Given the description of an element on the screen output the (x, y) to click on. 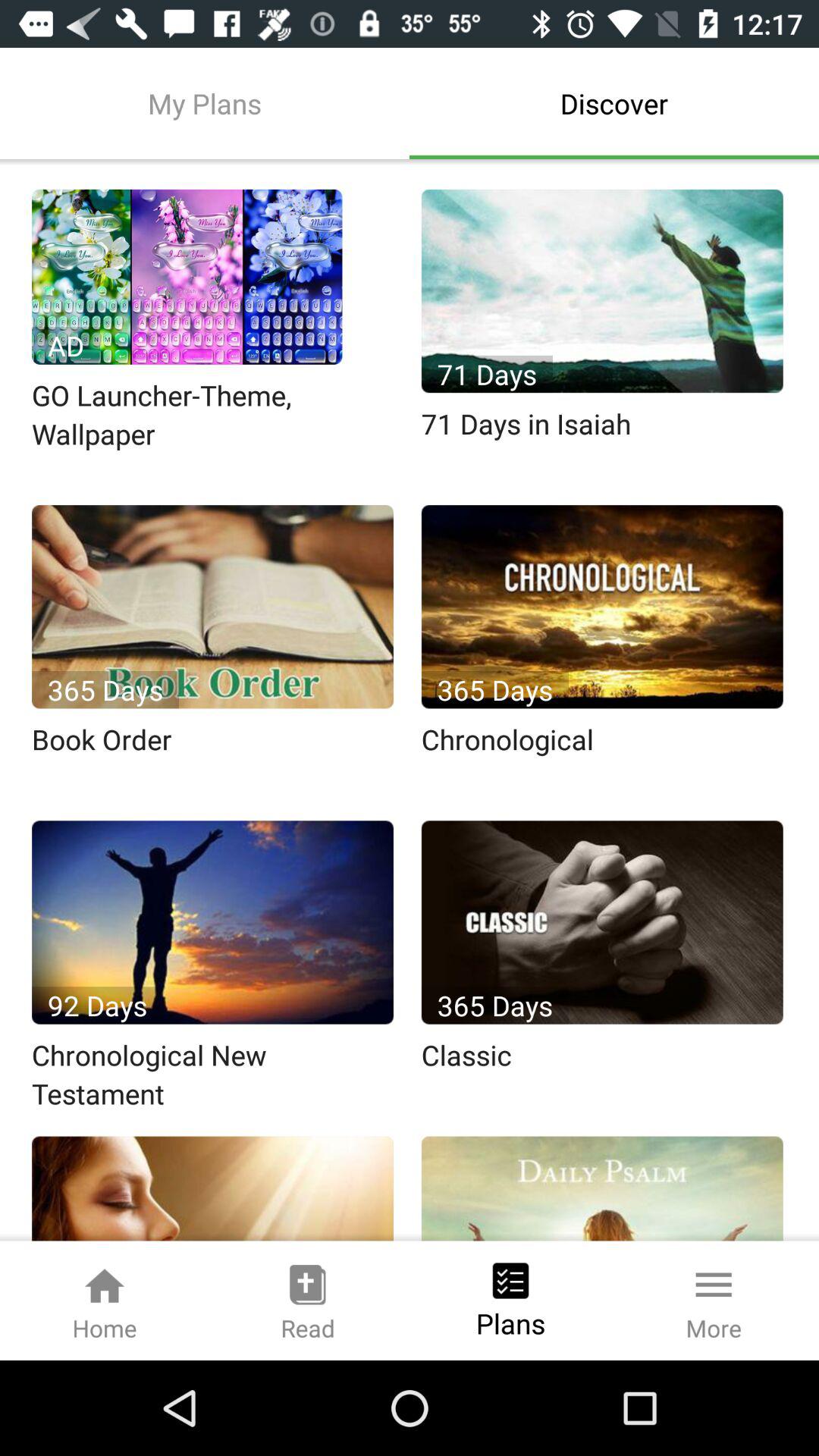
select the first picture (187, 277)
click on 5th picture (212, 923)
click on the text on the first image (65, 345)
select the text below the first picture (214, 415)
